Given the description of an element on the screen output the (x, y) to click on. 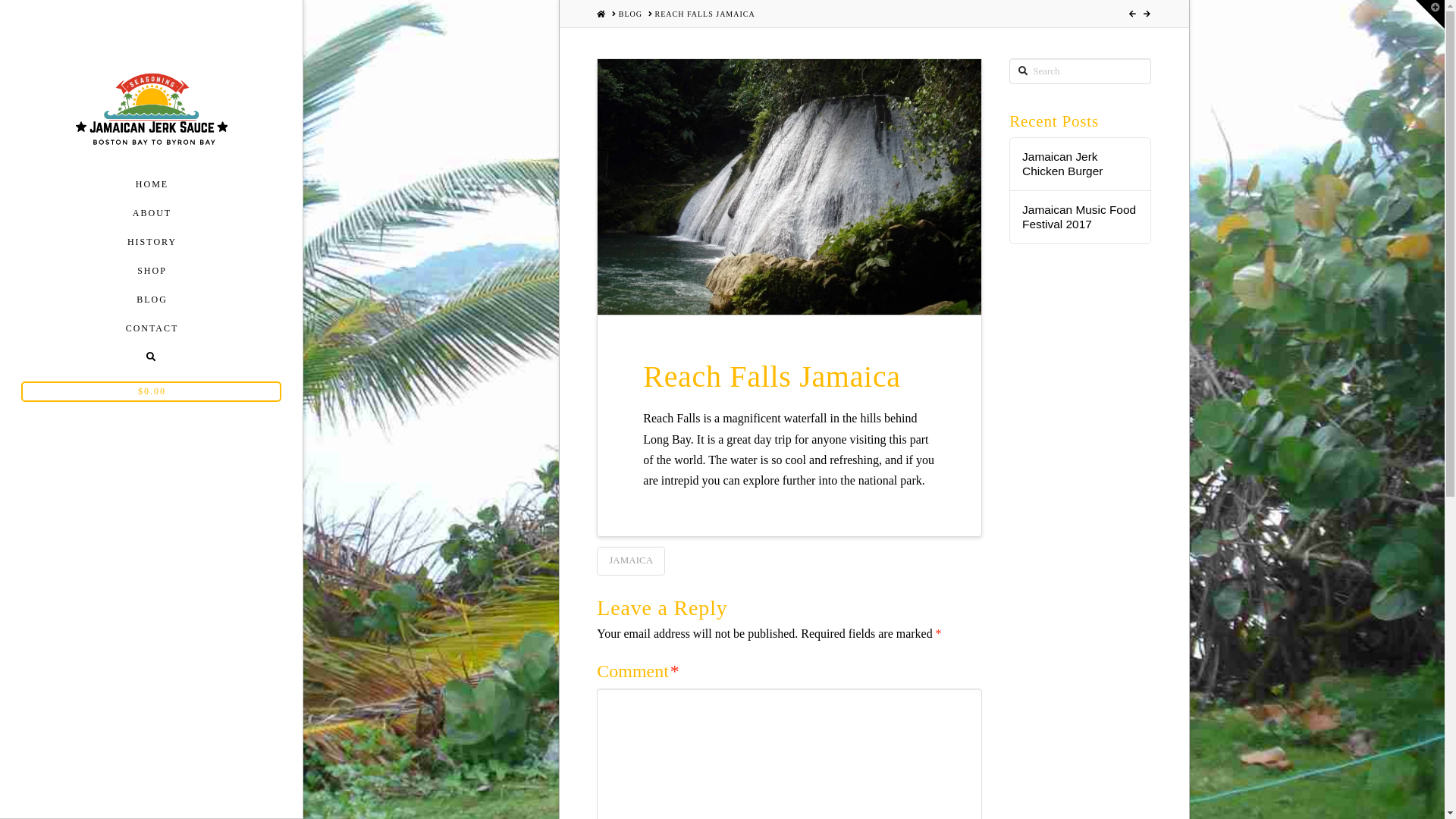
Jamaican Jerk Chicken Burger Element type: text (1080, 164)
Jamaican Music Food Festival 2017 Element type: text (1080, 217)
SHOP Element type: text (151, 270)
HISTORY Element type: text (151, 241)
ABOUT Element type: text (151, 212)
HOME Element type: text (151, 183)
BLOG Element type: text (630, 14)
HOME Element type: text (600, 12)
$0.00 Element type: text (151, 391)
BLOG Element type: text (151, 299)
Toggle the Widgetbar Element type: text (1429, 14)
REACH FALLS JAMAICA Element type: text (705, 14)
JAMAICA Element type: text (630, 560)
CONTACT Element type: text (151, 327)
